Given the description of an element on the screen output the (x, y) to click on. 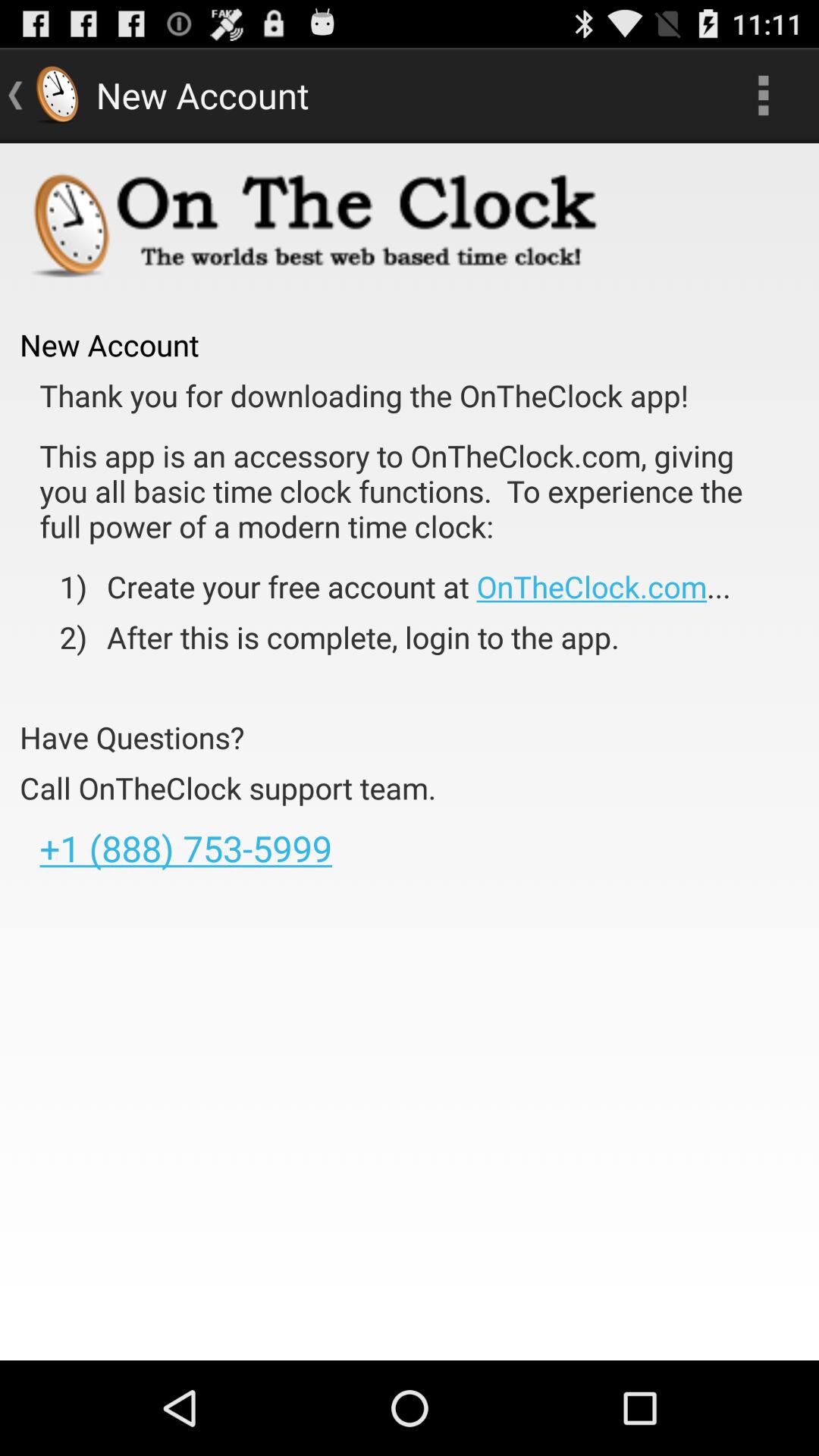
tap the item to the right of the 1) (408, 586)
